Given the description of an element on the screen output the (x, y) to click on. 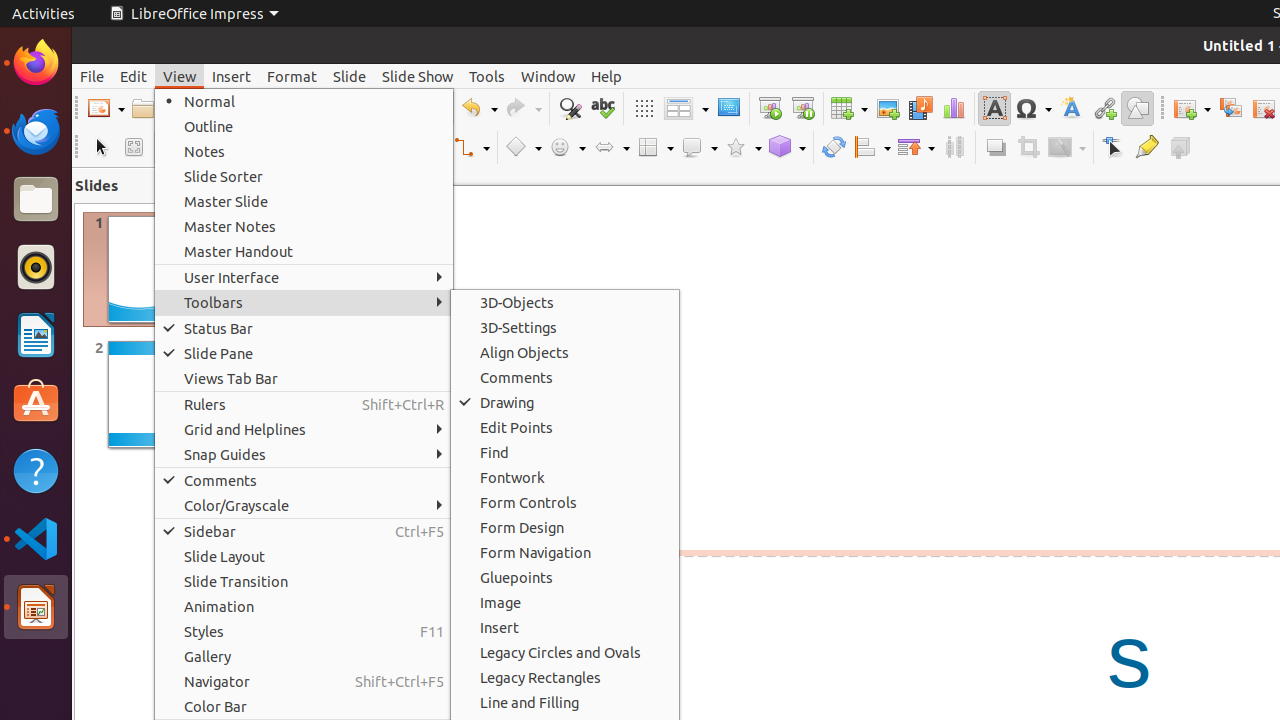
Styles Element type: menu-item (304, 631)
Master Handout Element type: radio-menu-item (304, 251)
Line and Filling Element type: check-menu-item (565, 702)
Visual Studio Code Element type: push-button (36, 538)
